Given the description of an element on the screen output the (x, y) to click on. 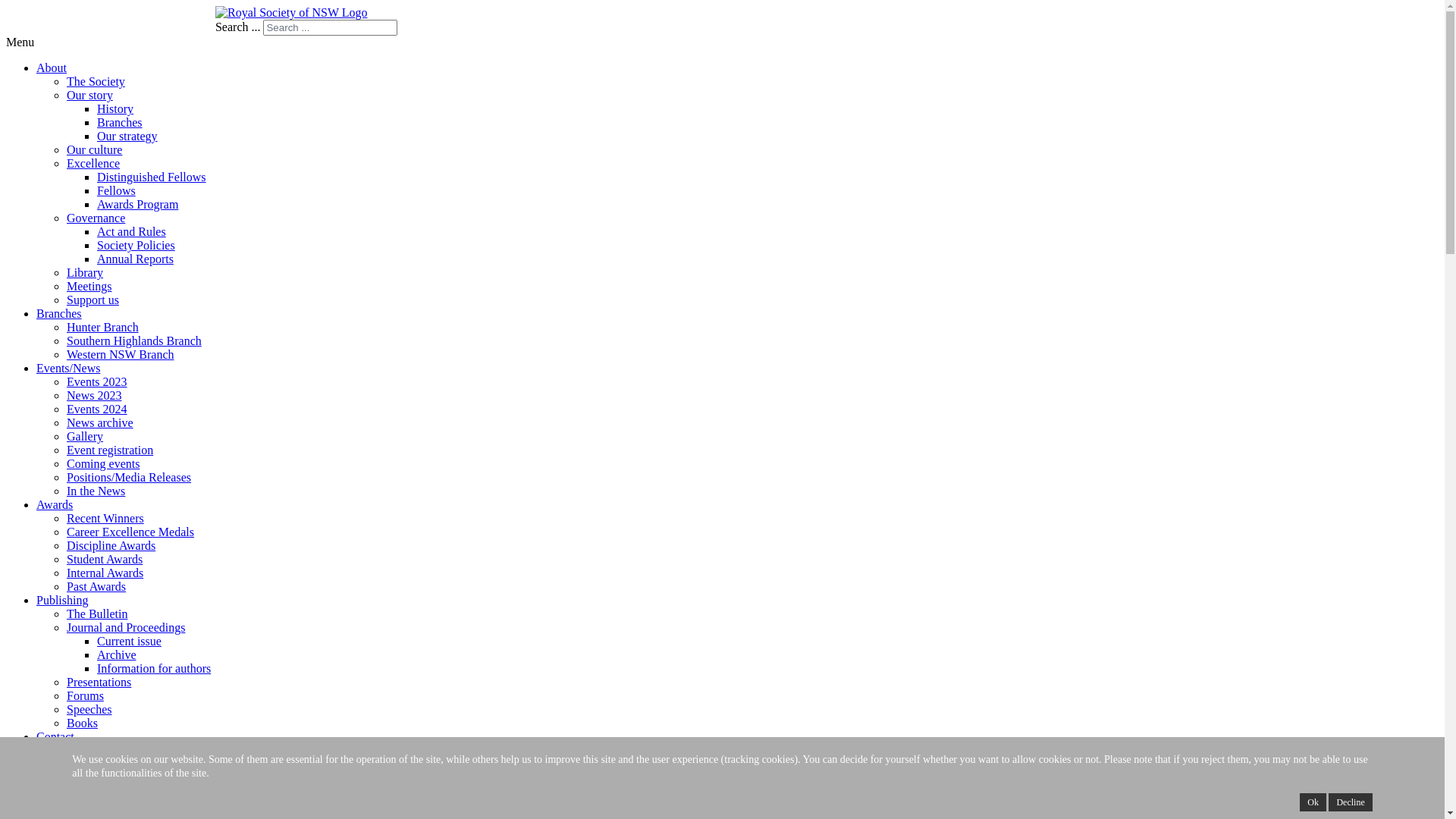
Society Policies Element type: text (136, 244)
Awards Element type: text (54, 504)
Books Element type: text (81, 722)
Discipline Awards Element type: text (110, 545)
Internal Awards Element type: text (104, 572)
Library Element type: text (84, 272)
Contact Element type: text (55, 736)
Branches Element type: text (58, 313)
Governance Element type: text (95, 217)
Student Awards Element type: text (104, 558)
Speeches Element type: text (89, 708)
Southern Highlands Branch Element type: text (133, 340)
Gallery Element type: text (84, 435)
Events/News Element type: text (68, 367)
Meetings Element type: text (89, 285)
Events 2024 Element type: text (96, 408)
Branches Element type: text (119, 122)
Information for authors Element type: text (153, 668)
About Element type: text (51, 67)
Act and Rules Element type: text (131, 231)
Current issue Element type: text (129, 640)
Event registration Element type: text (109, 449)
Positions/Media Releases Element type: text (128, 476)
Events 2023 Element type: text (96, 381)
Past Awards Element type: text (95, 586)
News archive Element type: text (99, 422)
Hunter Branch Element type: text (102, 326)
Western NSW Branch Element type: text (120, 354)
Fellows Element type: text (116, 190)
The Royal Society of NSW Element type: text (110, 16)
Forums Element type: text (84, 695)
Coming events Element type: text (102, 463)
Career Excellence Medals Element type: text (130, 531)
Ok Element type: text (1312, 802)
Distinguished Fellows Element type: text (151, 176)
Our story Element type: text (89, 94)
Recent Winners Element type: text (105, 517)
Our strategy Element type: text (127, 135)
The Bulletin Element type: text (96, 613)
Journal and Proceedings Element type: text (125, 627)
News 2023 Element type: text (93, 395)
Our culture Element type: text (94, 149)
History Element type: text (115, 108)
Archive Element type: text (116, 654)
Annual Reports Element type: text (135, 258)
In the News Element type: text (95, 490)
Awards Program Element type: text (137, 203)
The Society Element type: text (95, 81)
Support us Element type: text (92, 299)
Publishing Element type: text (61, 599)
Presentations Element type: text (98, 681)
Excellence Element type: text (92, 162)
Decline Element type: text (1349, 802)
